Given the description of an element on the screen output the (x, y) to click on. 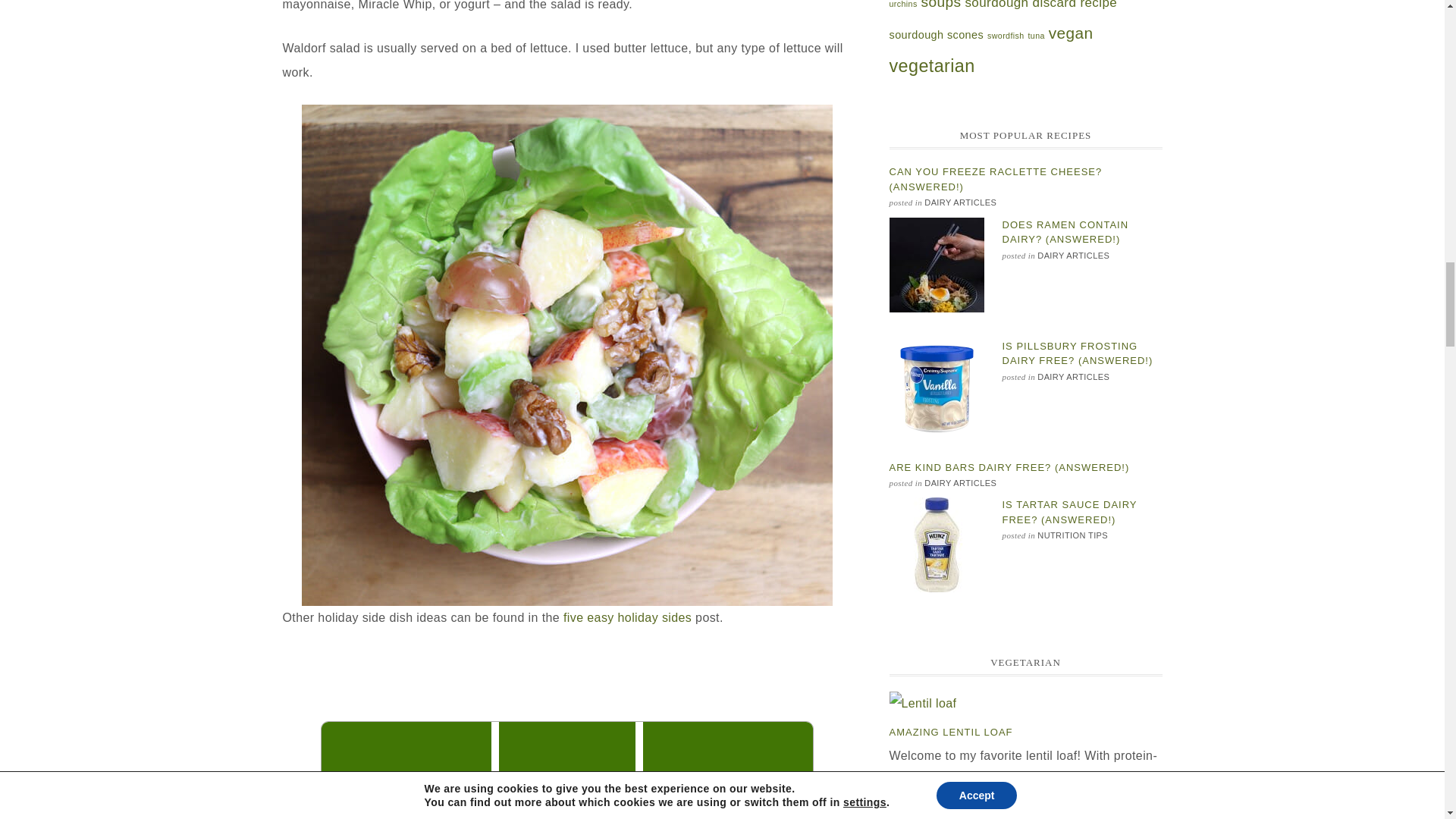
five easy holiday sides (627, 617)
